Given the description of an element on the screen output the (x, y) to click on. 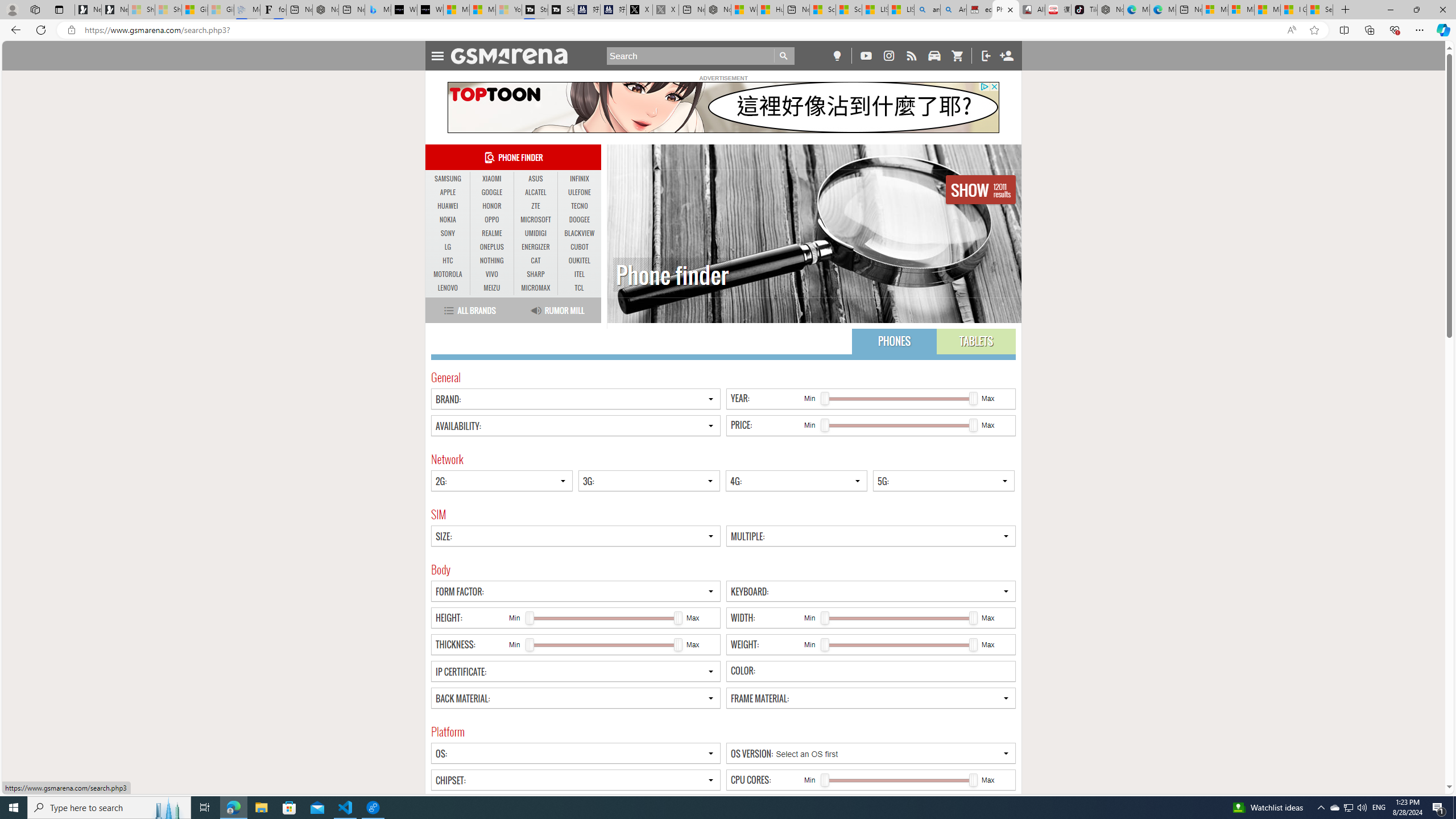
Show (981, 189)
INFINIX (579, 178)
Microsoft Bing Travel - Shangri-La Hotel Bangkok (377, 9)
APPLE (448, 192)
Class: privacy_out (984, 86)
APPLE (448, 192)
ASUS (535, 178)
TCL (579, 287)
HUAWEI (448, 206)
